Given the description of an element on the screen output the (x, y) to click on. 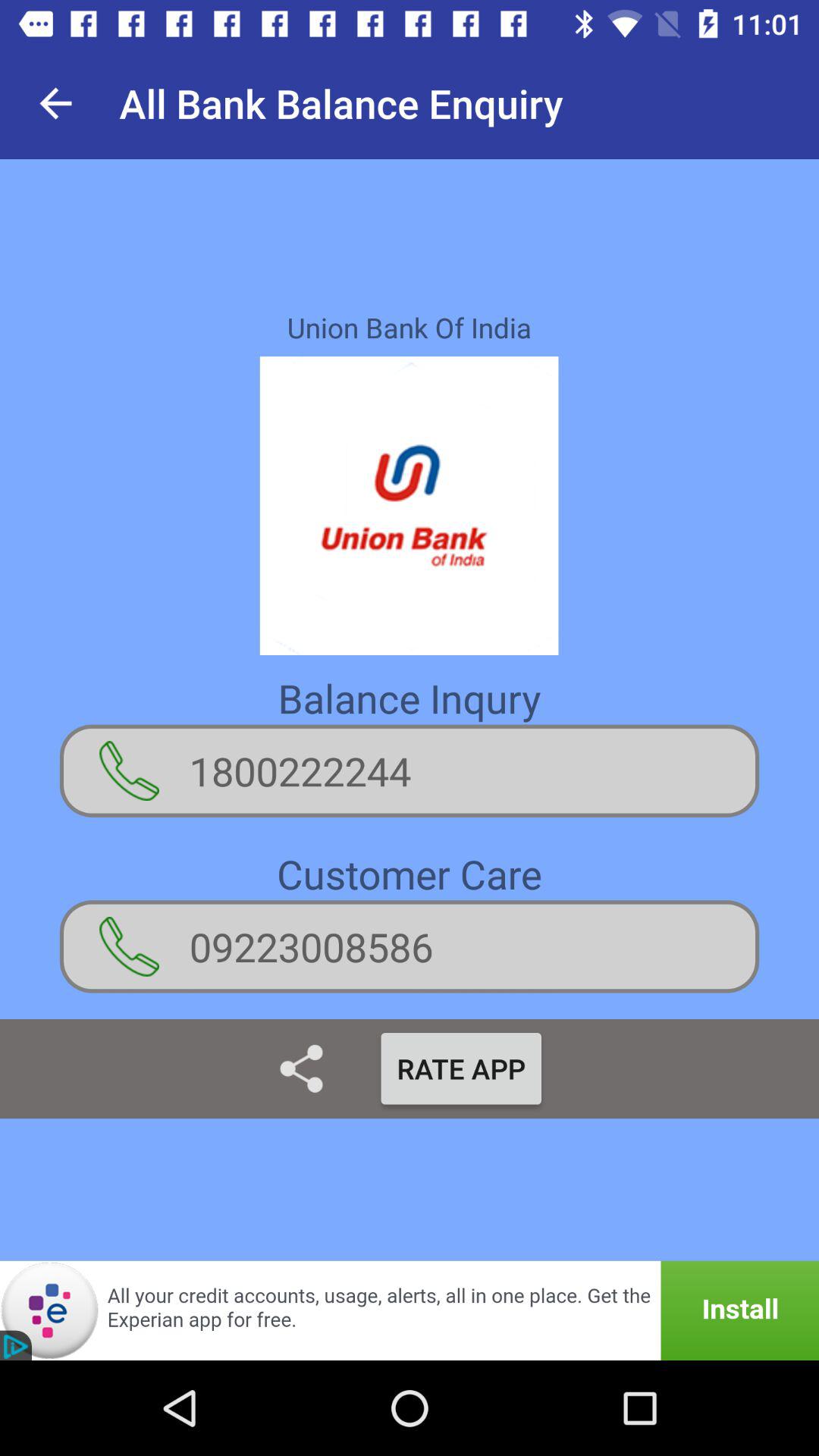
tap rate app icon (461, 1068)
